Given the description of an element on the screen output the (x, y) to click on. 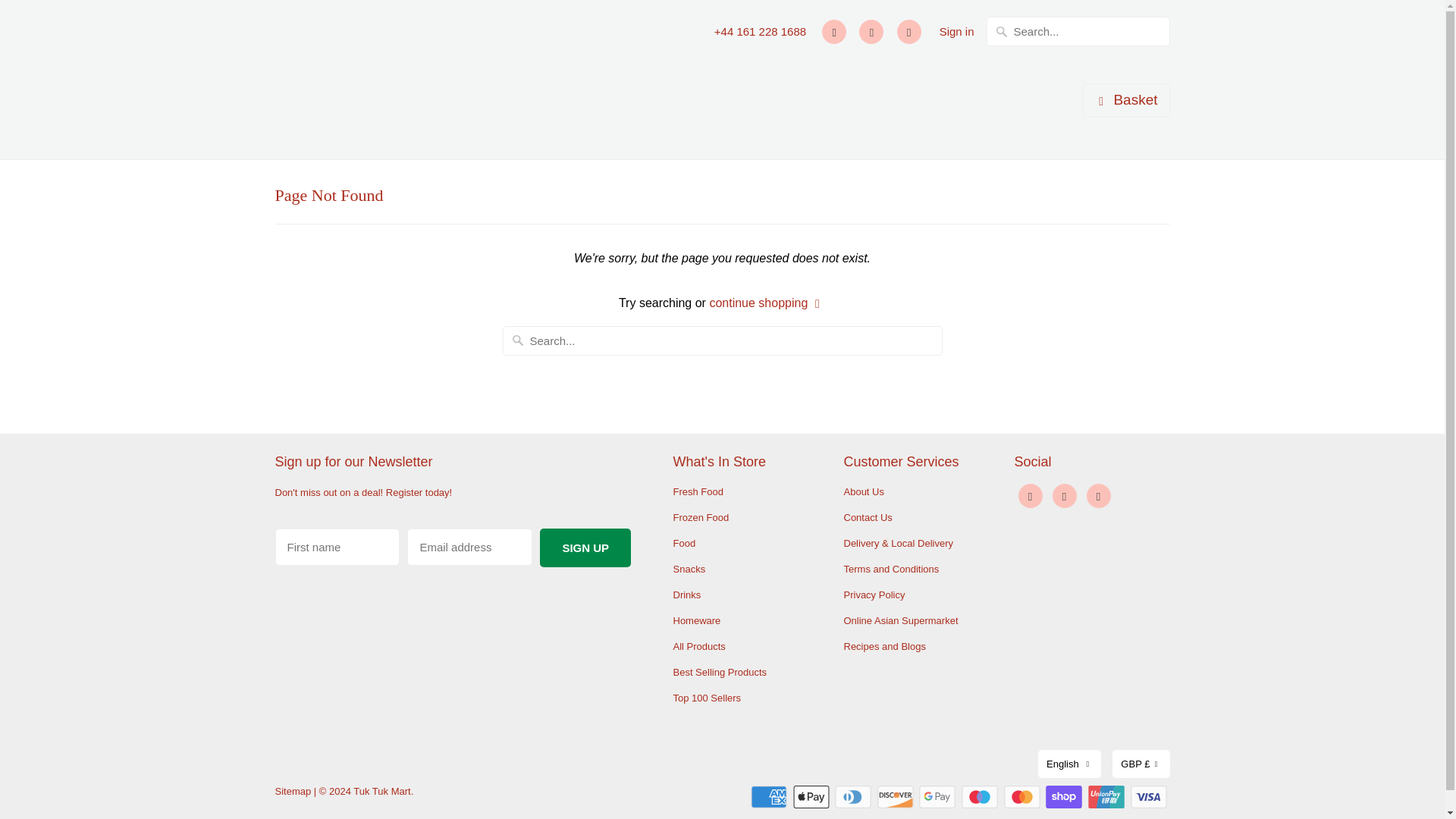
Tuk Tuk Mart (342, 79)
Shop Pay (1064, 796)
Email Tuk Tuk Mart (908, 31)
Google Pay (938, 796)
Visa (1149, 796)
Tuk Tuk Mart on Facebook (833, 31)
Diners Club (854, 796)
Email Tuk Tuk Mart (1097, 495)
My Account (956, 31)
Apple Pay (812, 796)
Maestro (980, 796)
Basket (1126, 100)
Union Pay (1106, 796)
Mastercard (1023, 796)
Sign in (956, 31)
